Given the description of an element on the screen output the (x, y) to click on. 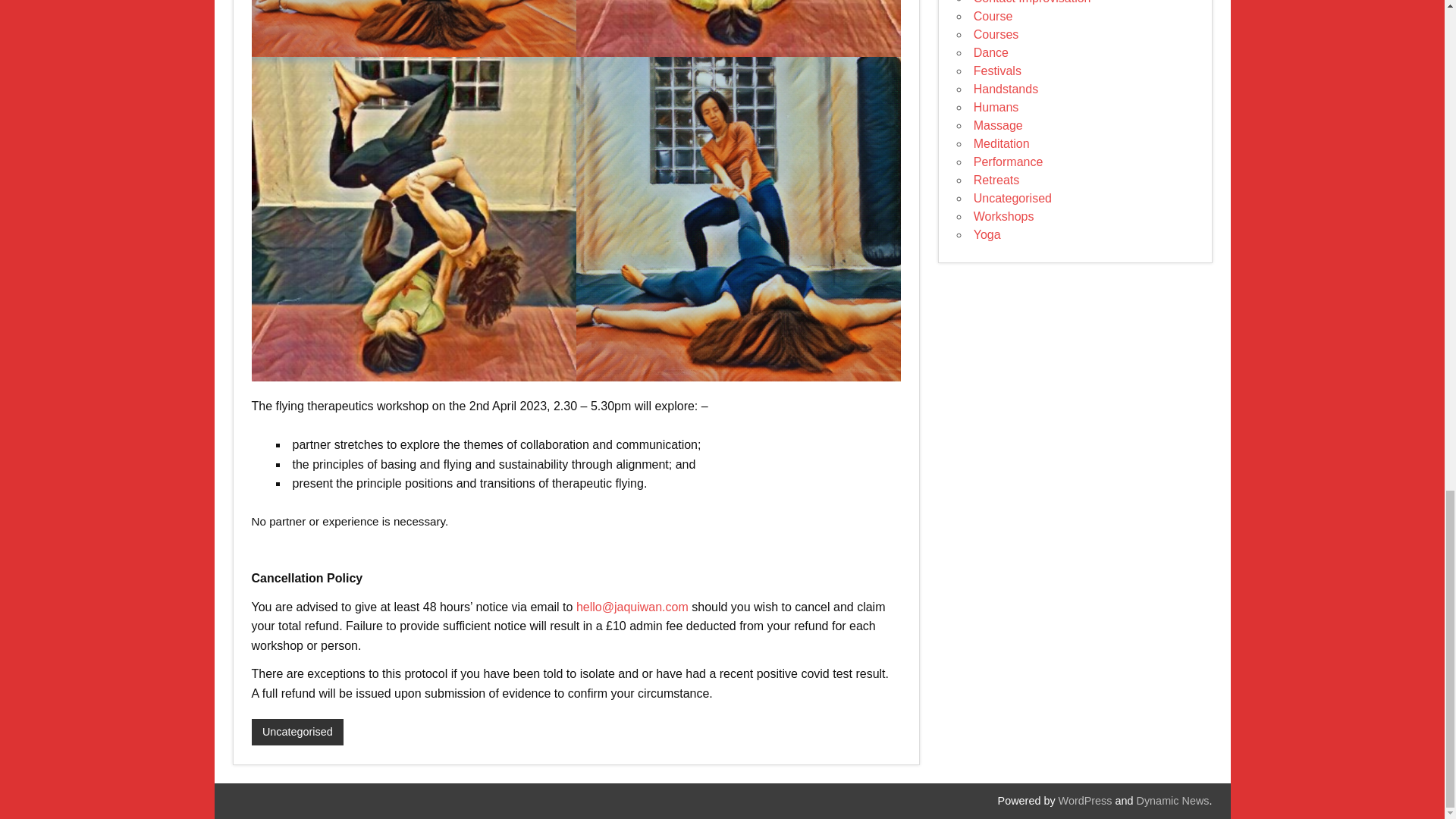
Courses (996, 33)
Course (993, 15)
Contact Improvisation (1032, 2)
WordPress (1085, 800)
Dynamic News WordPress Theme (1173, 800)
Uncategorised (297, 732)
